Given the description of an element on the screen output the (x, y) to click on. 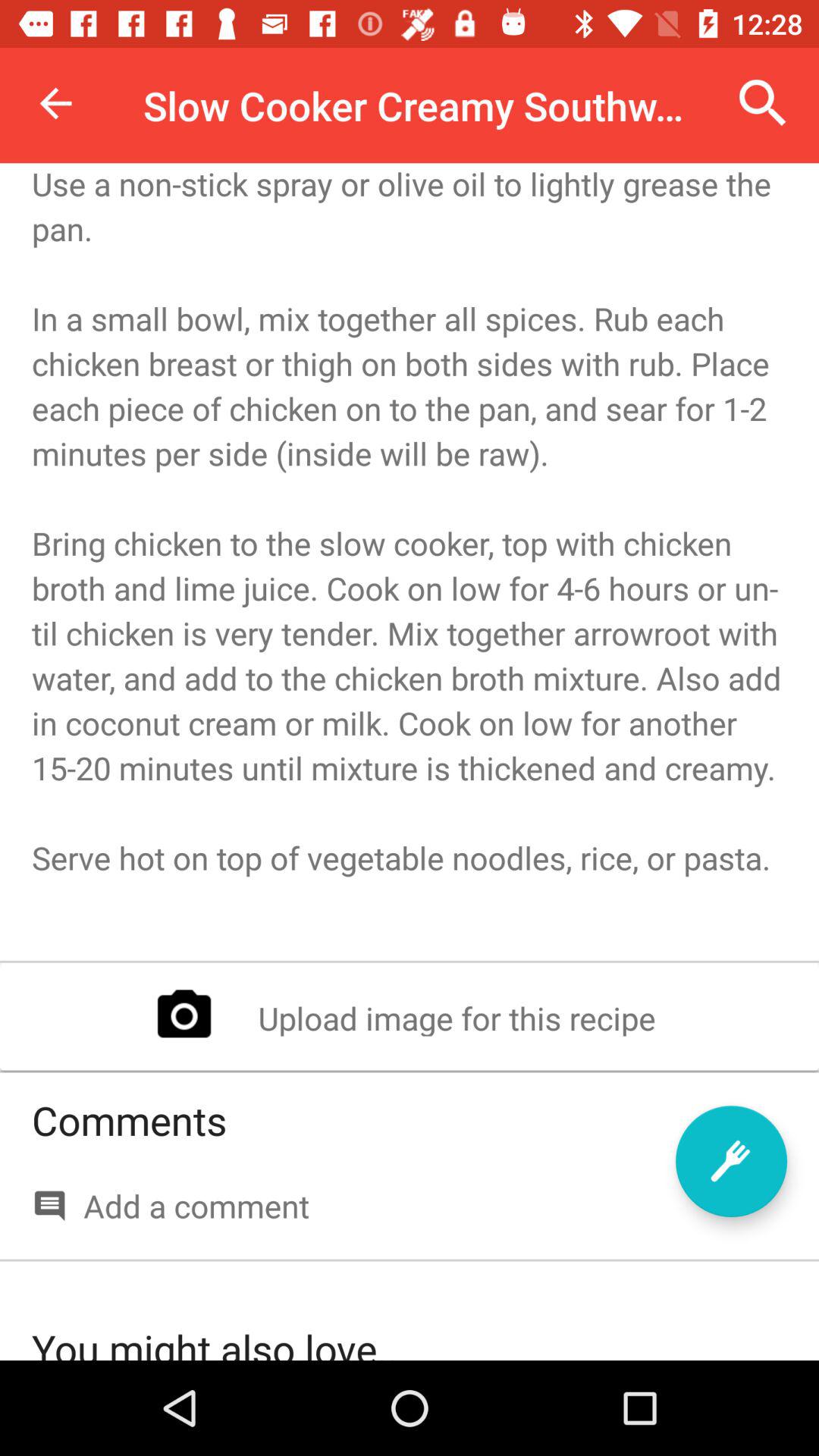
click icon to the right of the slow cooker creamy (763, 103)
